Given the description of an element on the screen output the (x, y) to click on. 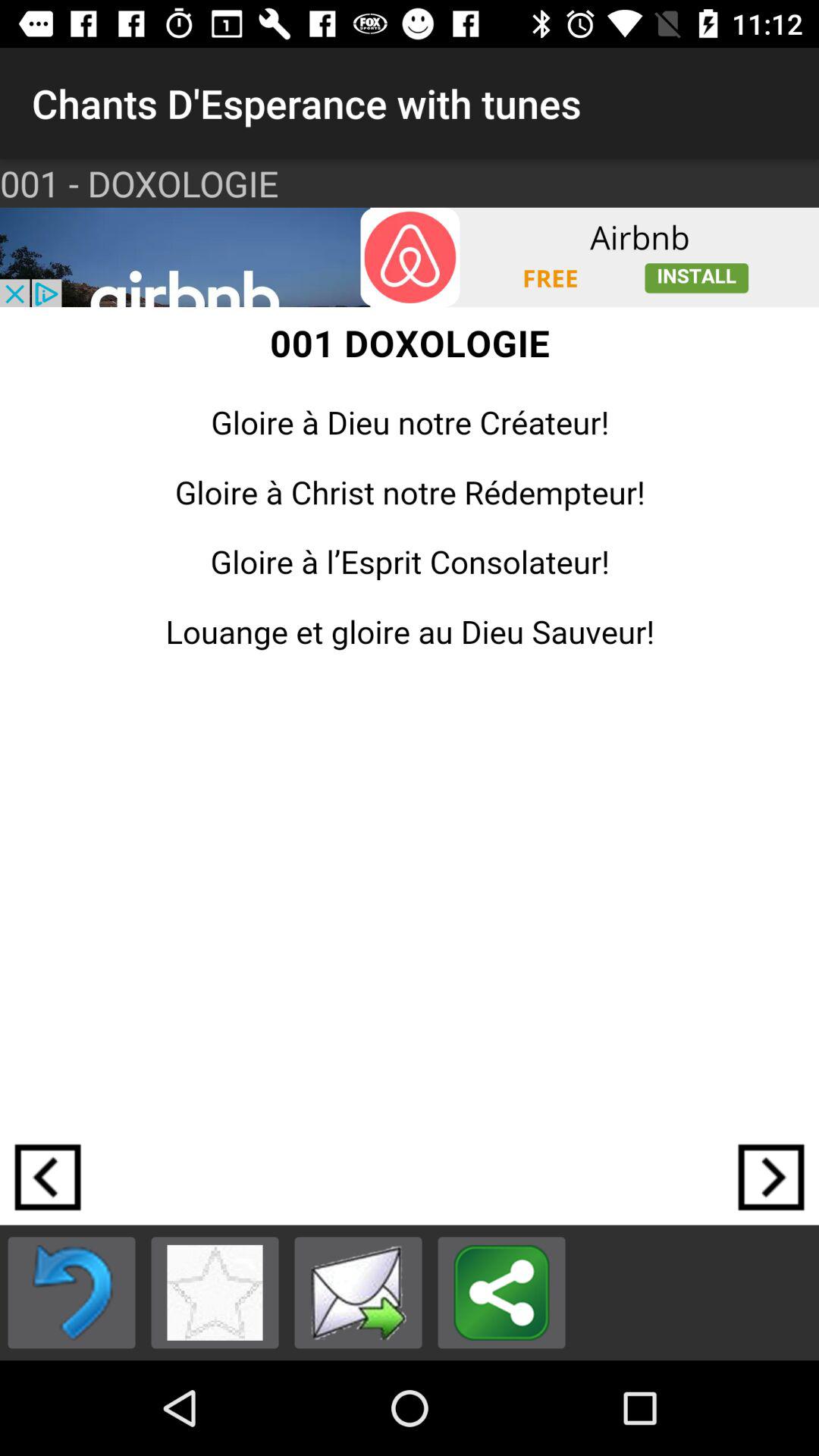
airbnb icon (409, 257)
